Given the description of an element on the screen output the (x, y) to click on. 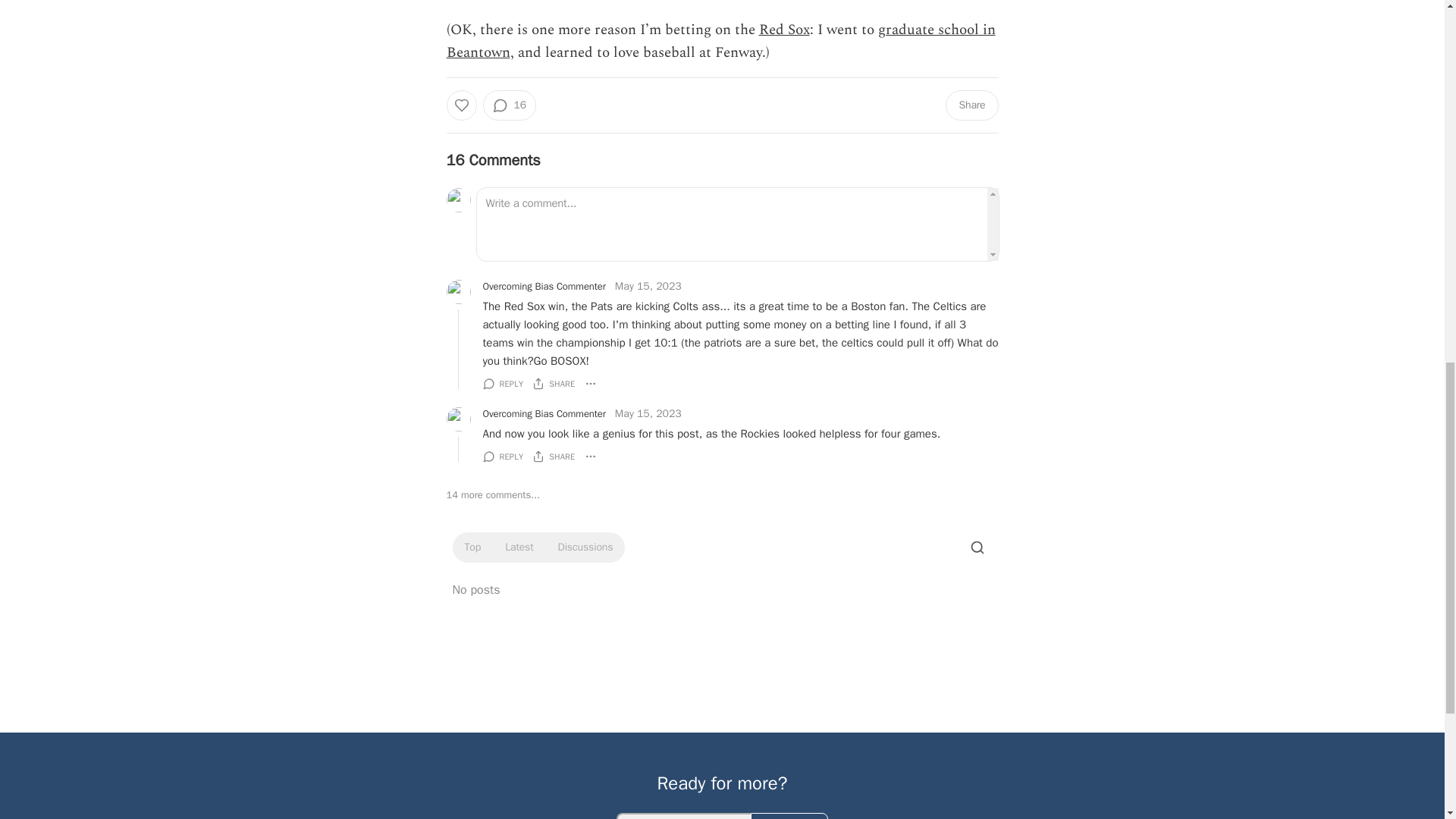
Overcoming Bias Commenter (543, 286)
this analysis at hardballtimes.com (805, 1)
16 (508, 105)
Red Sox (783, 29)
graduate school in Beantown (719, 40)
Share (970, 105)
